Given the description of an element on the screen output the (x, y) to click on. 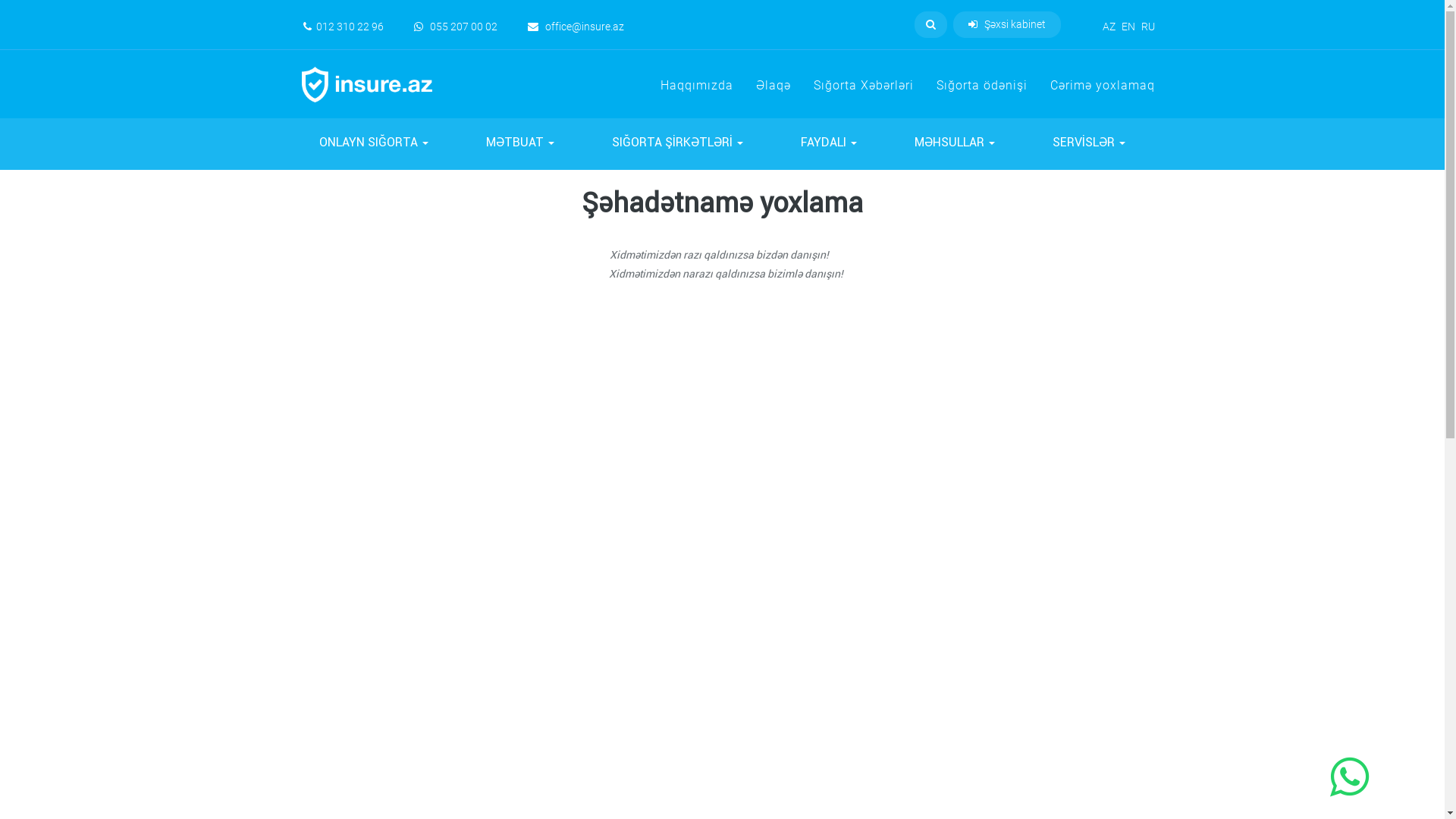
AZ Element type: text (1108, 26)
RU Element type: text (1147, 26)
012 310 22 96 Element type: text (343, 26)
office@insure.az Element type: text (575, 26)
FAYDALI Element type: text (828, 144)
055 207 00 02 Element type: text (455, 26)
EN Element type: text (1127, 26)
